Given the description of an element on the screen output the (x, y) to click on. 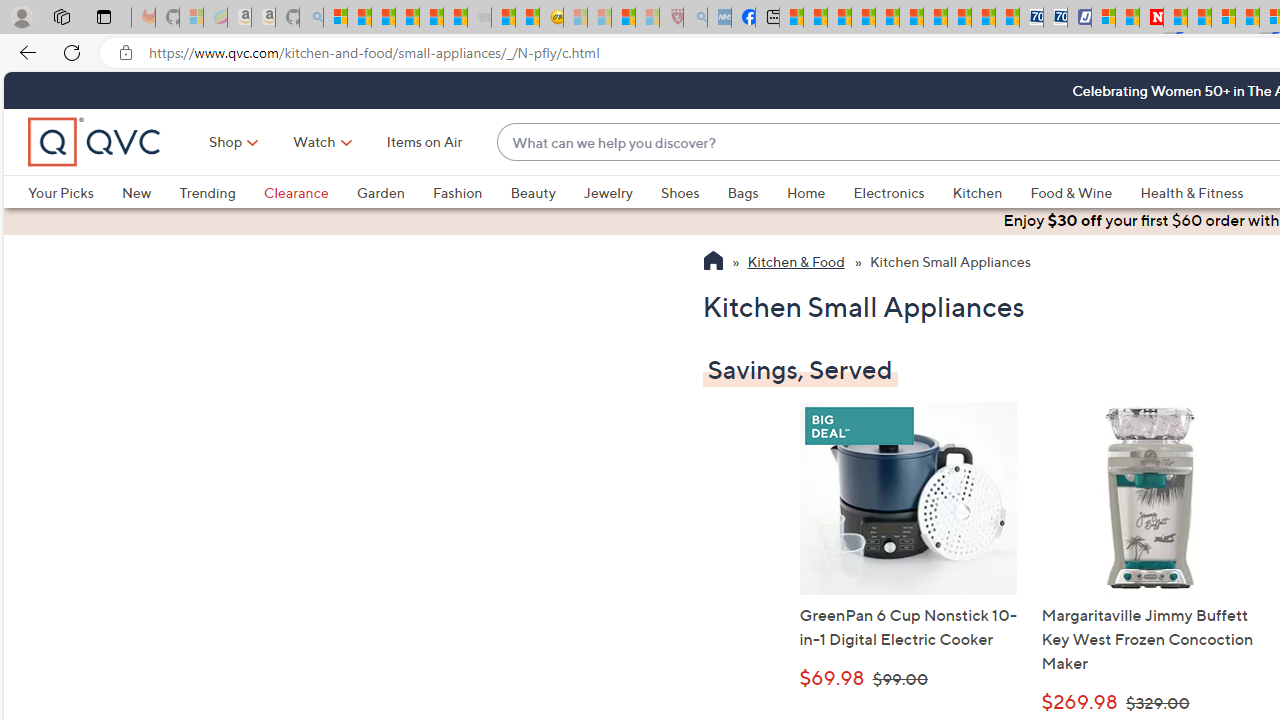
Your Picks (74, 192)
Food & Wine (1085, 192)
Garden (393, 192)
Kitchen & Food (795, 263)
Kitchen (991, 192)
Climate Damage Becomes Too Severe To Reverse (863, 17)
Kitchen Small Appliances (949, 263)
Trending (207, 192)
